Given the description of an element on the screen output the (x, y) to click on. 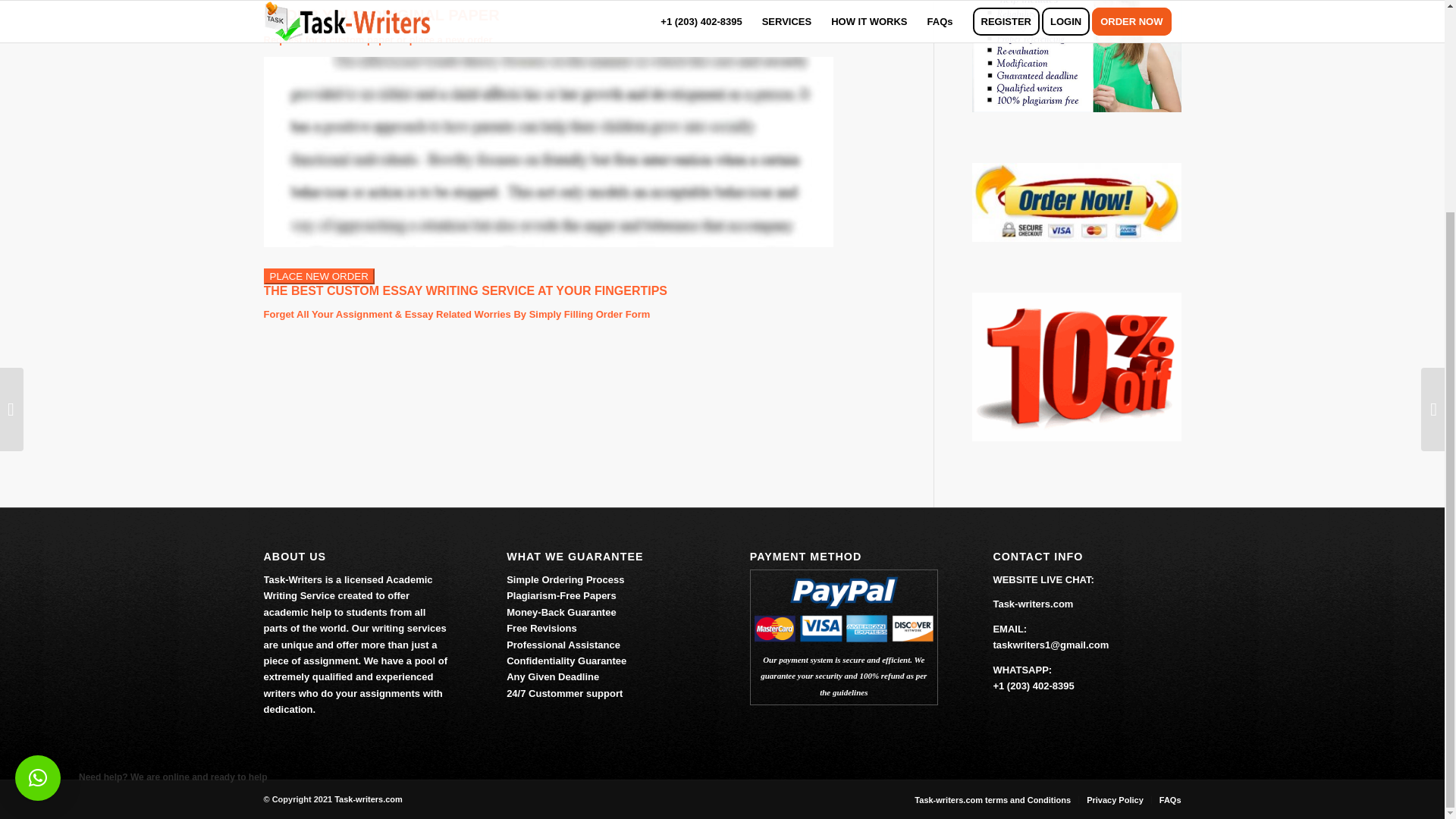
FAQs (1169, 799)
Task-writers.com (368, 798)
ORDER YOUR ORIGINAL PAPER (381, 14)
PLACE NEW ORDER (318, 276)
Privacy Policy (1114, 799)
Task-writers.com terms and Conditions (992, 799)
Need help? We are online and ready to help (37, 501)
PLACE NEW ORDER (318, 276)
